Given the description of an element on the screen output the (x, y) to click on. 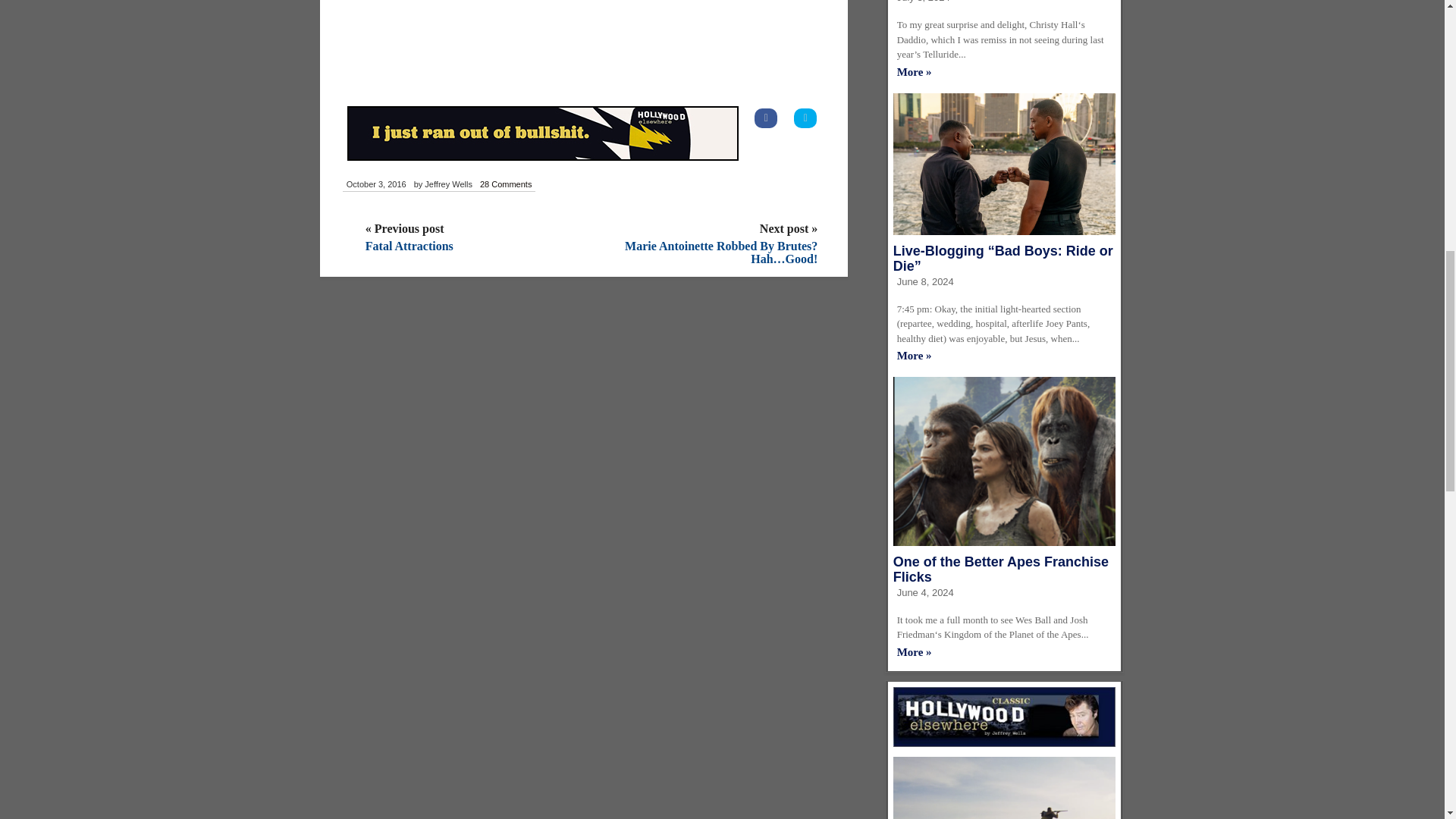
by Jeffrey Wells (443, 184)
October 3, 2016 (376, 184)
28 Comments (505, 184)
